Given the description of an element on the screen output the (x, y) to click on. 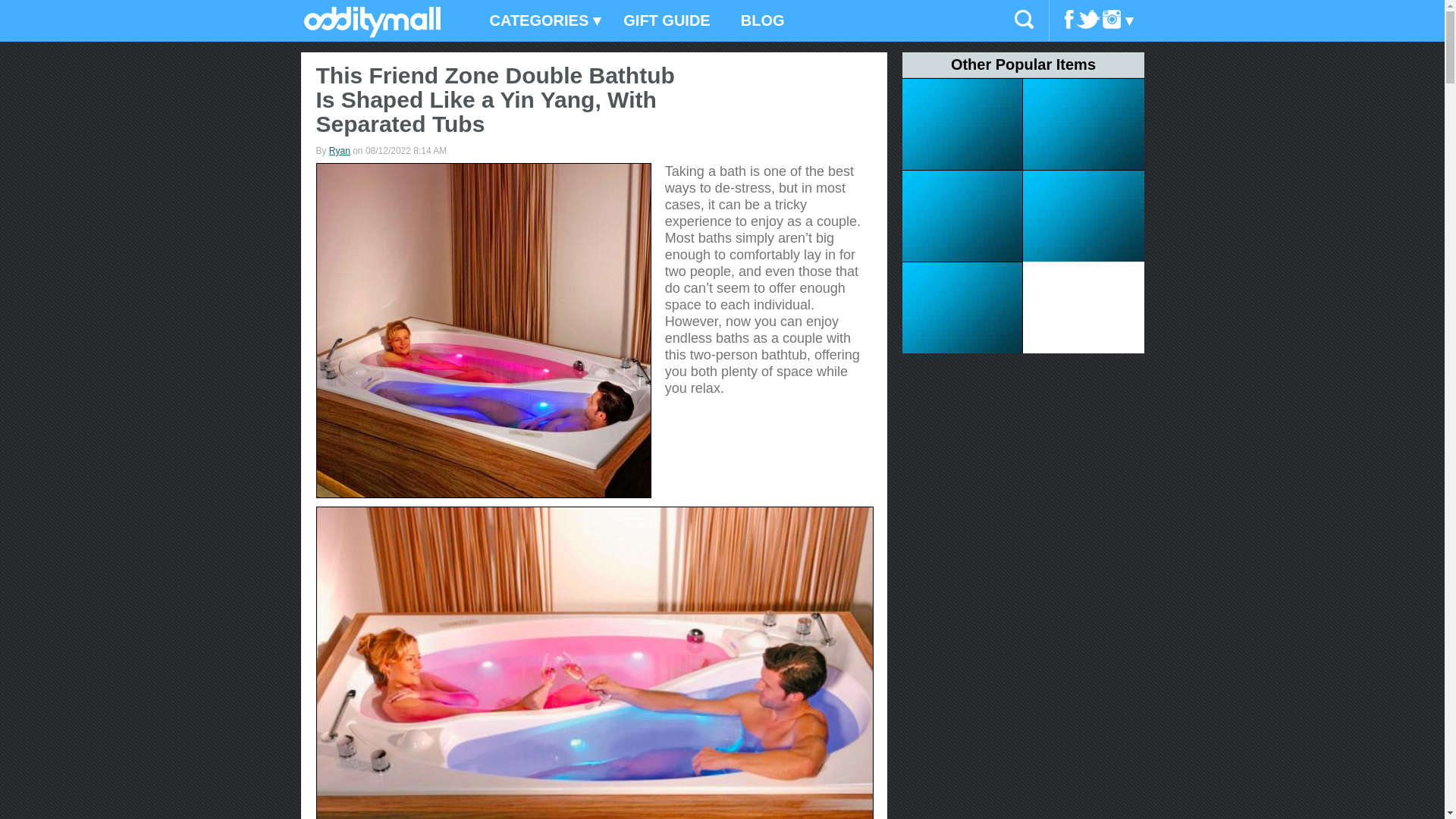
Ryan (339, 150)
BLOG (762, 20)
Unique Gifts - Unusual Gift Ideas (371, 32)
CATEGORIES (541, 20)
GIFT GUIDE (666, 20)
